Given the description of an element on the screen output the (x, y) to click on. 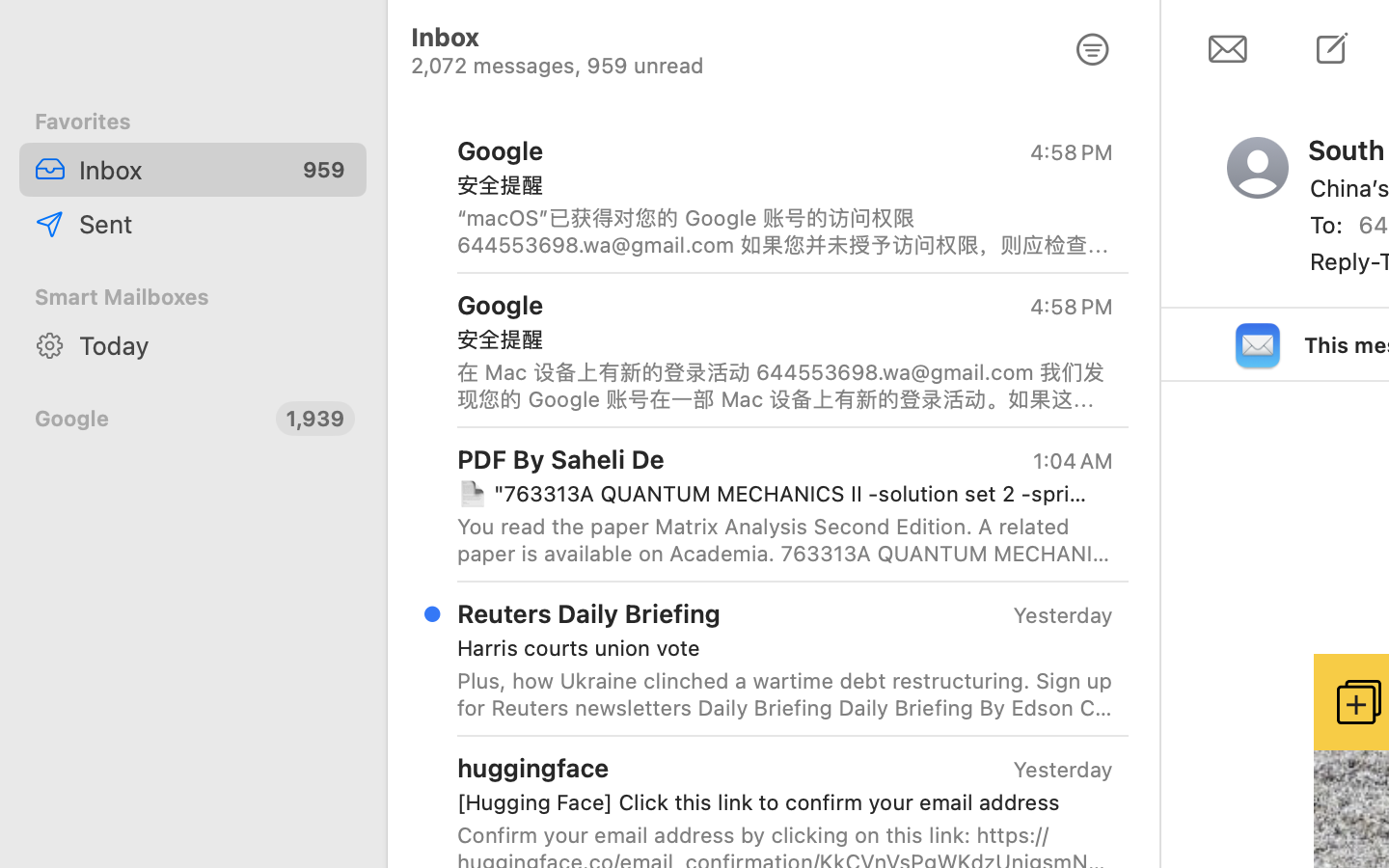
PDF By Saheli De Element type: AXStaticText (561, 458)
4:58 PM Element type: AXStaticText (1071, 151)
Today Element type: AXTextField (214, 344)
Smart Mailboxes Element type: AXStaticText (192, 296)
Sent Element type: AXStaticText (214, 223)
